Given the description of an element on the screen output the (x, y) to click on. 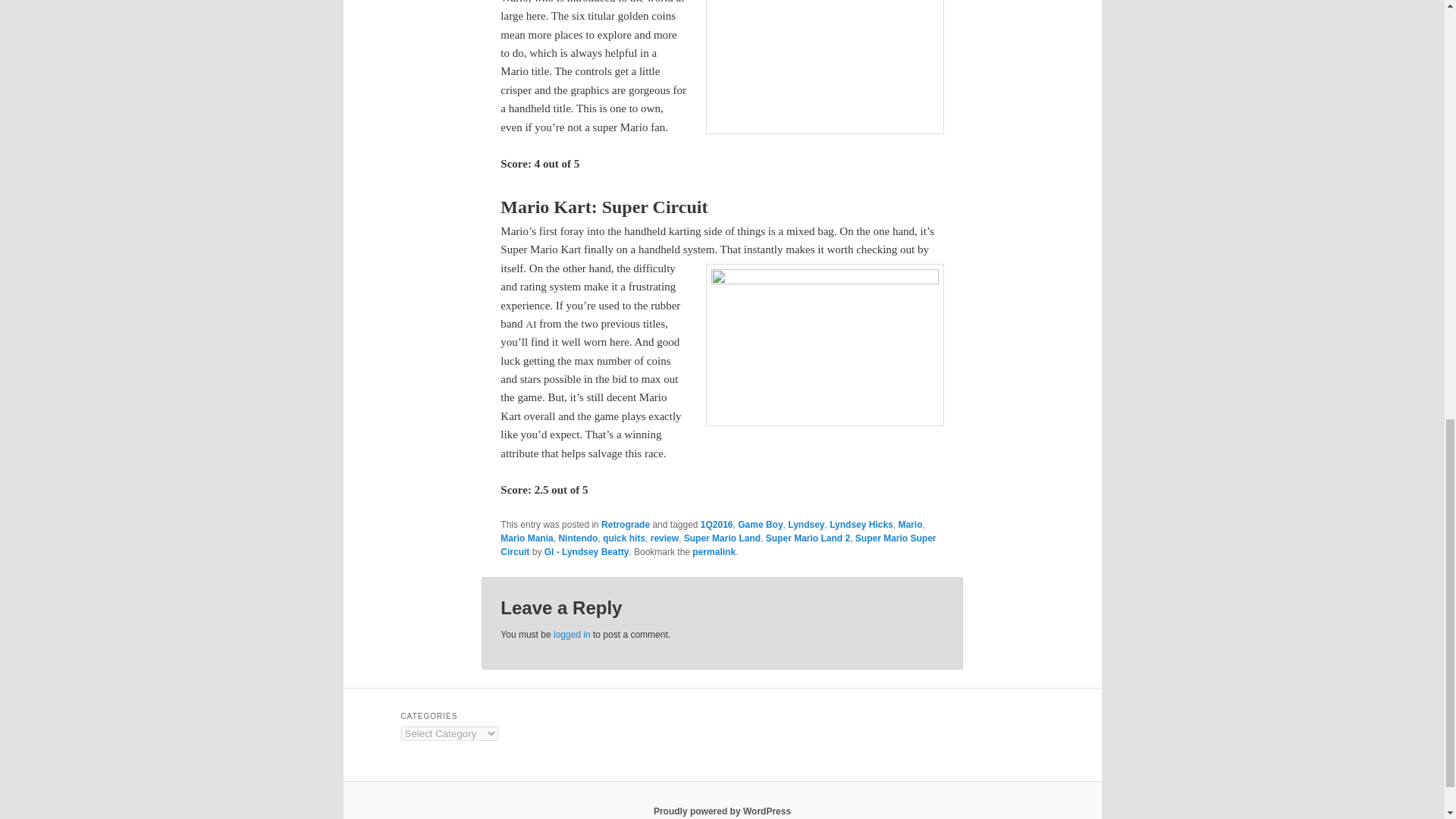
Super Mario Land (722, 538)
permalink (714, 552)
review (664, 538)
Proudly powered by WordPress (721, 810)
1Q2016 (716, 524)
Mario Mania (526, 538)
GI - Lyndsey Beatty (586, 552)
Retrograde (625, 524)
quick hits (623, 538)
Semantic Personal Publishing Platform (721, 810)
Super Mario Super Circuit (718, 545)
Nintendo (576, 538)
logged in (572, 634)
Mario (909, 524)
Game Boy (760, 524)
